Given the description of an element on the screen output the (x, y) to click on. 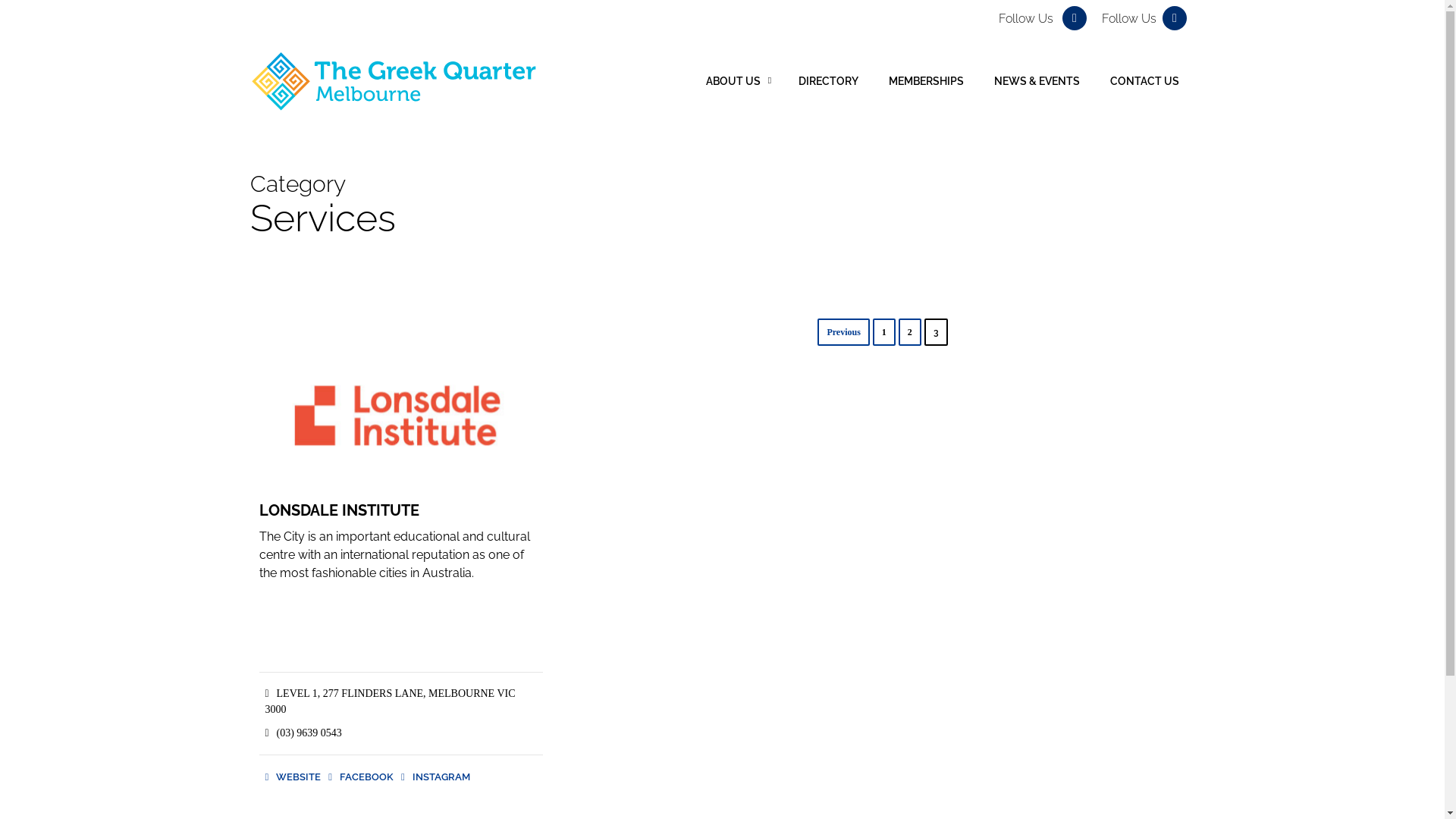
WEBSITE Element type: text (292, 777)
Previous Element type: text (843, 331)
1 Element type: text (883, 331)
ABOUT US Element type: text (736, 80)
Follow Us   Element type: text (1144, 19)
INSTAGRAM Element type: text (435, 777)
NEWS & EVENTS Element type: text (1037, 80)
FACEBOOK Element type: text (360, 777)
2 Element type: text (909, 331)
Follow Us    Element type: text (1042, 19)
MEMBERSHIPS Element type: text (926, 80)
CONTACT US Element type: text (1144, 80)
DIRECTORY Element type: text (828, 80)
